Given the description of an element on the screen output the (x, y) to click on. 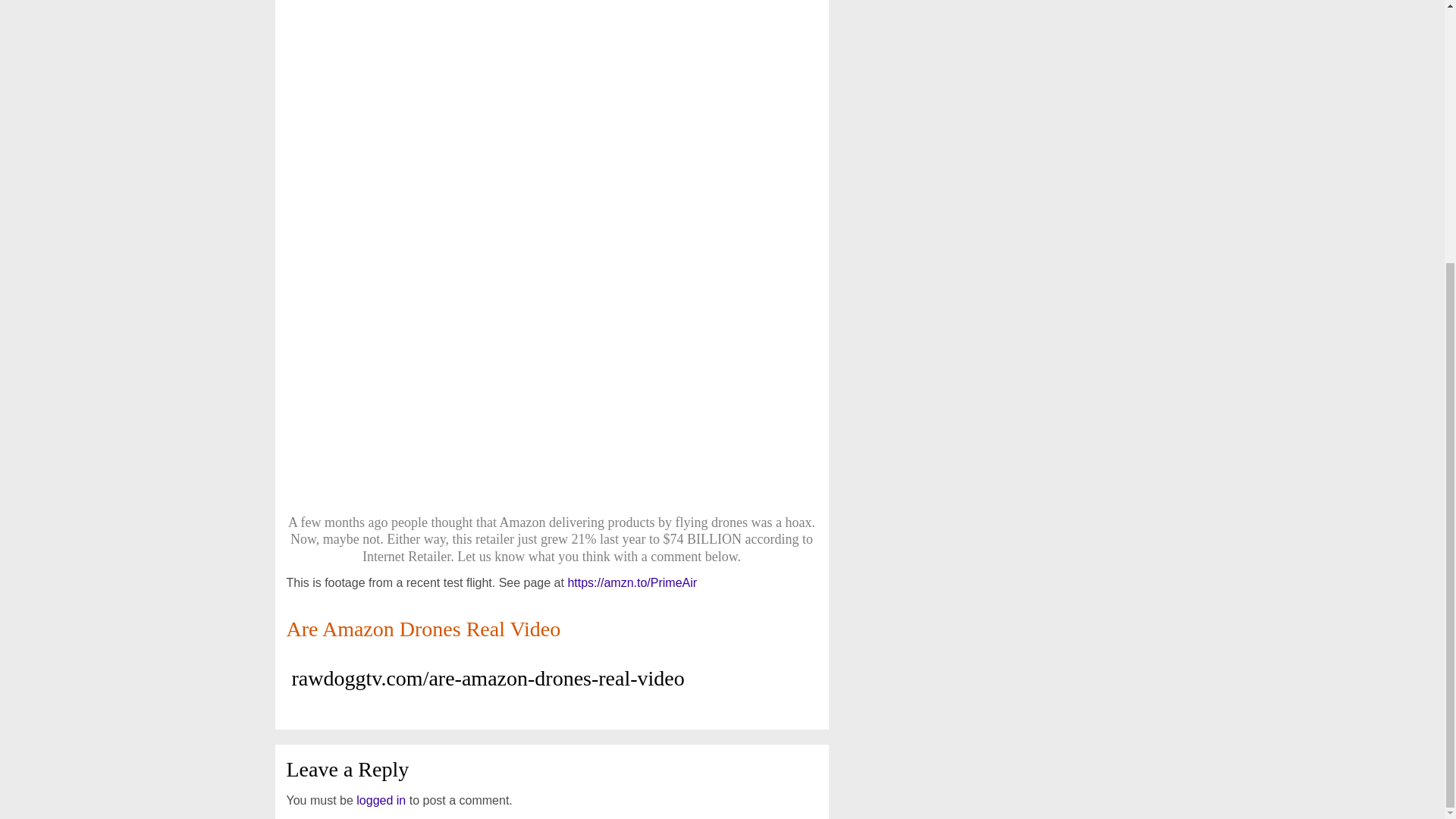
logged in (381, 799)
